Given the description of an element on the screen output the (x, y) to click on. 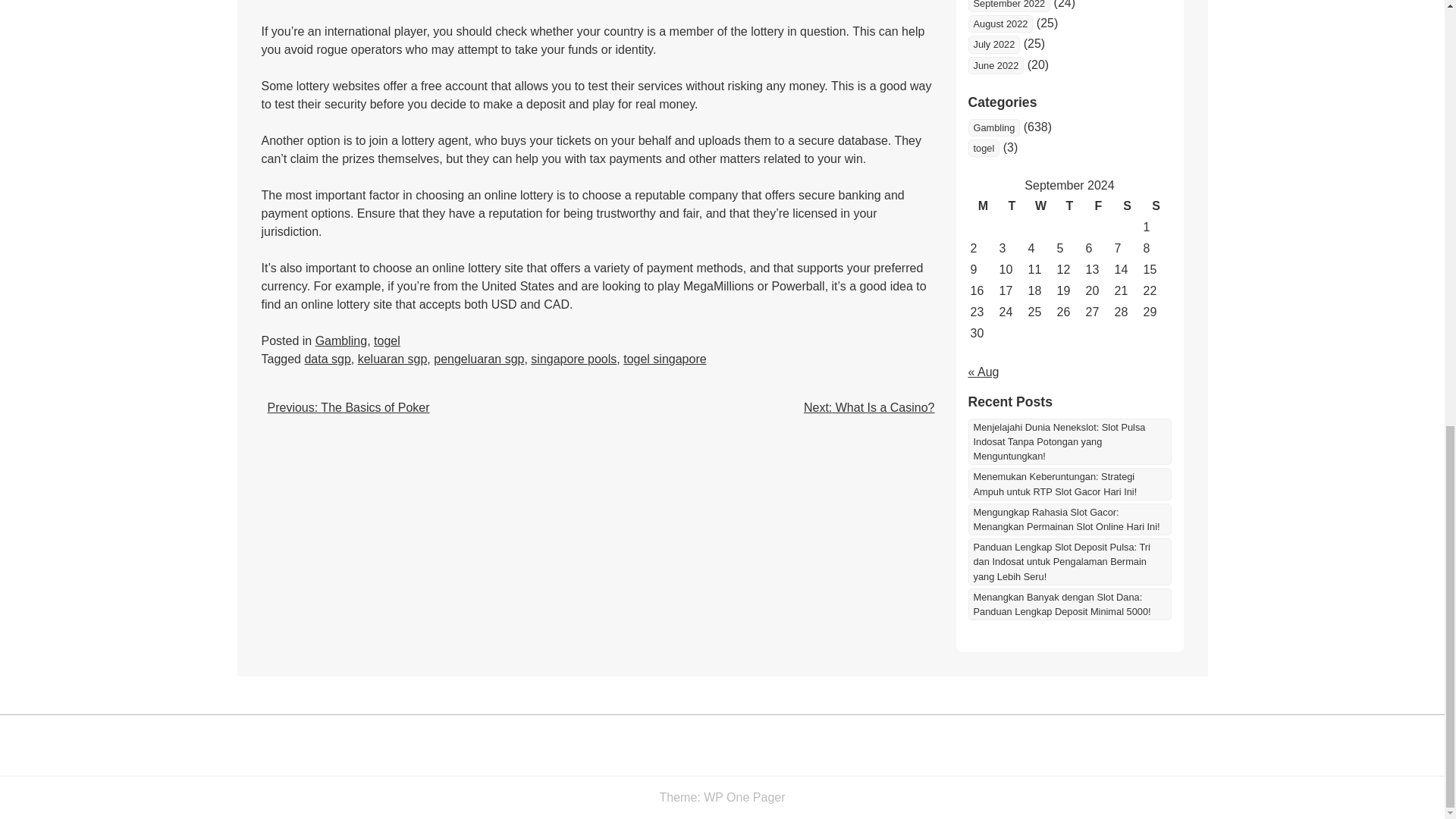
Friday (1098, 206)
togel (387, 340)
togel singapore (664, 358)
Tuesday (1011, 206)
pengeluaran sgp (478, 358)
singapore pools (573, 358)
keluaran sgp (393, 358)
Next: What Is a Casino? (868, 407)
Wednesday (1040, 206)
Thursday (1069, 206)
